Given the description of an element on the screen output the (x, y) to click on. 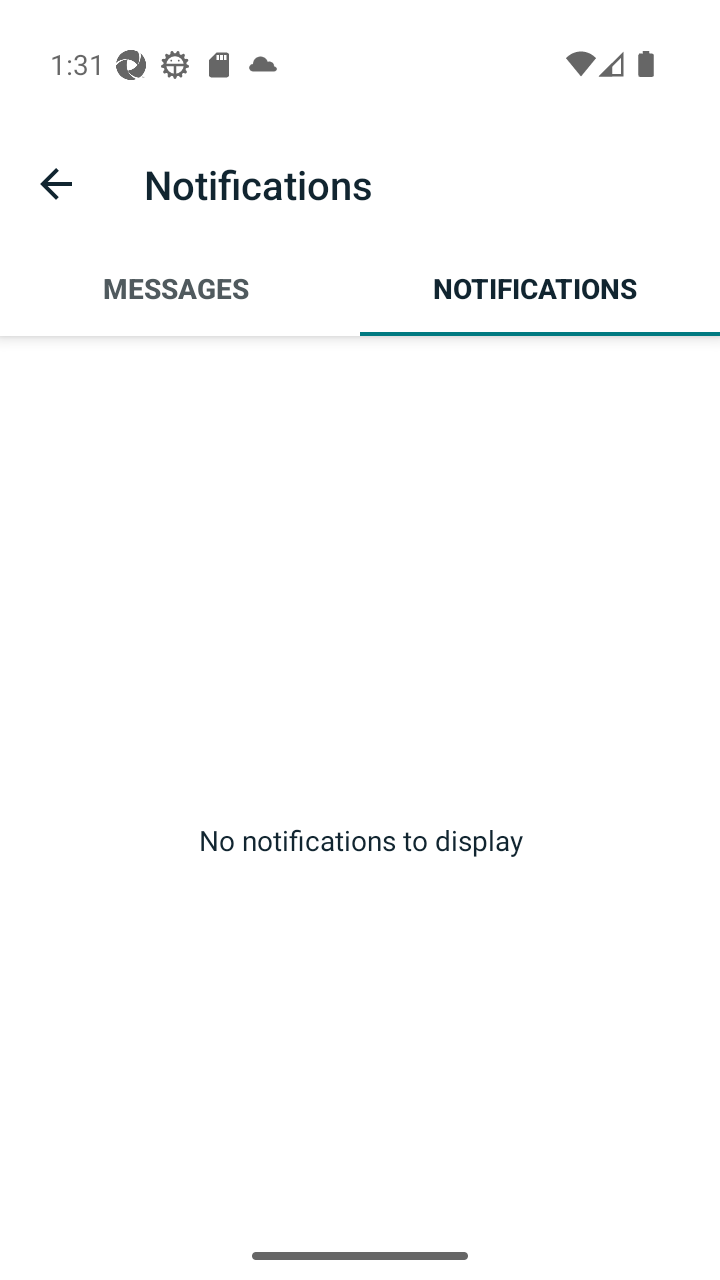
Messages MESSAGES (180, 287)
